Given the description of an element on the screen output the (x, y) to click on. 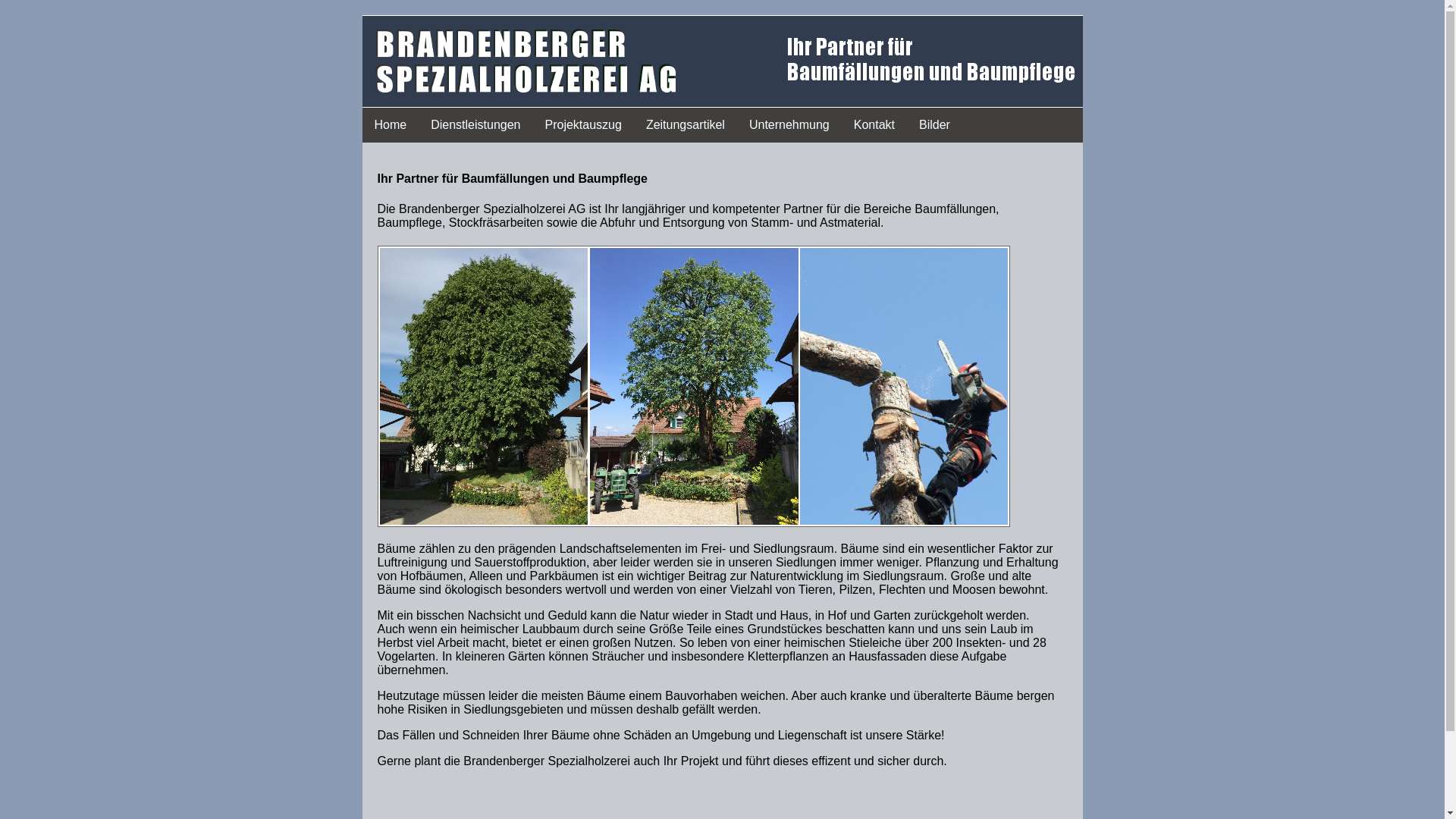
Unternehmung Element type: text (789, 124)
Dienstleistungen Element type: text (475, 124)
Kontakt Element type: text (873, 124)
Zeitungsartikel Element type: text (685, 124)
Bilder Element type: text (934, 124)
Projektauszug Element type: text (582, 124)
Home Element type: text (390, 124)
